Given the description of an element on the screen output the (x, y) to click on. 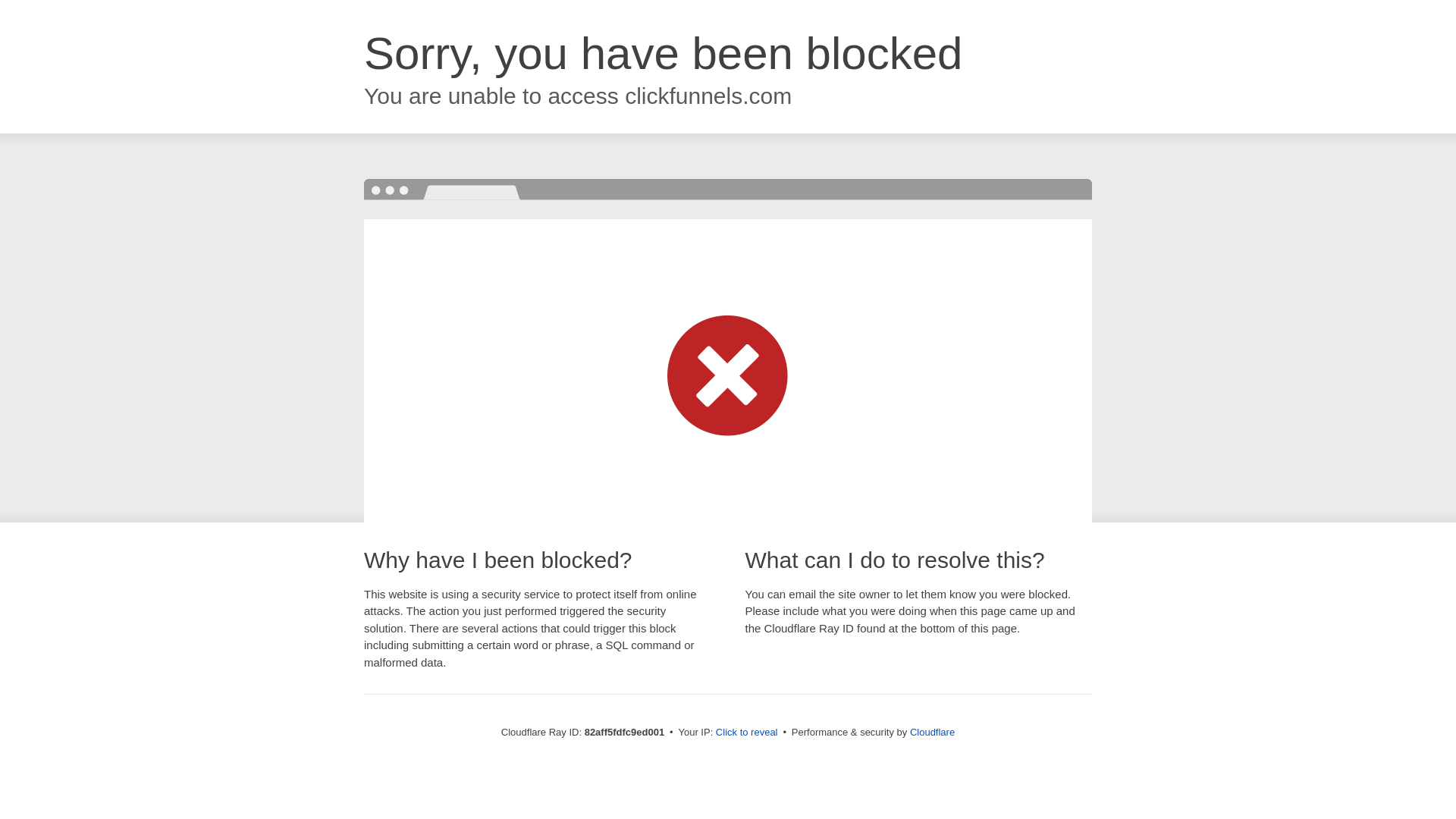
Cloudflare Element type: text (932, 731)
Click to reveal Element type: text (746, 732)
